Given the description of an element on the screen output the (x, y) to click on. 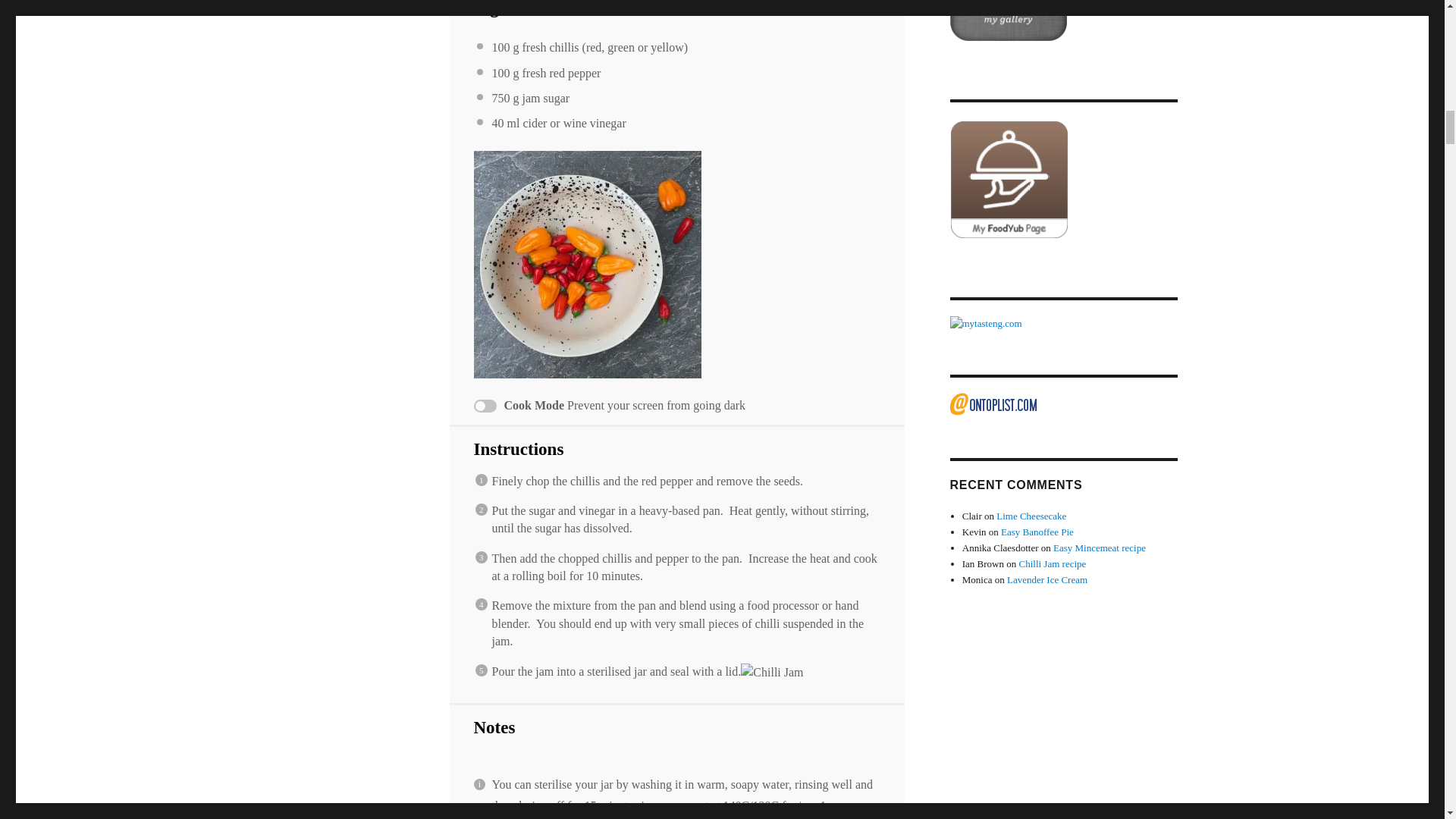
mytasteng.com (1062, 324)
